Given the description of an element on the screen output the (x, y) to click on. 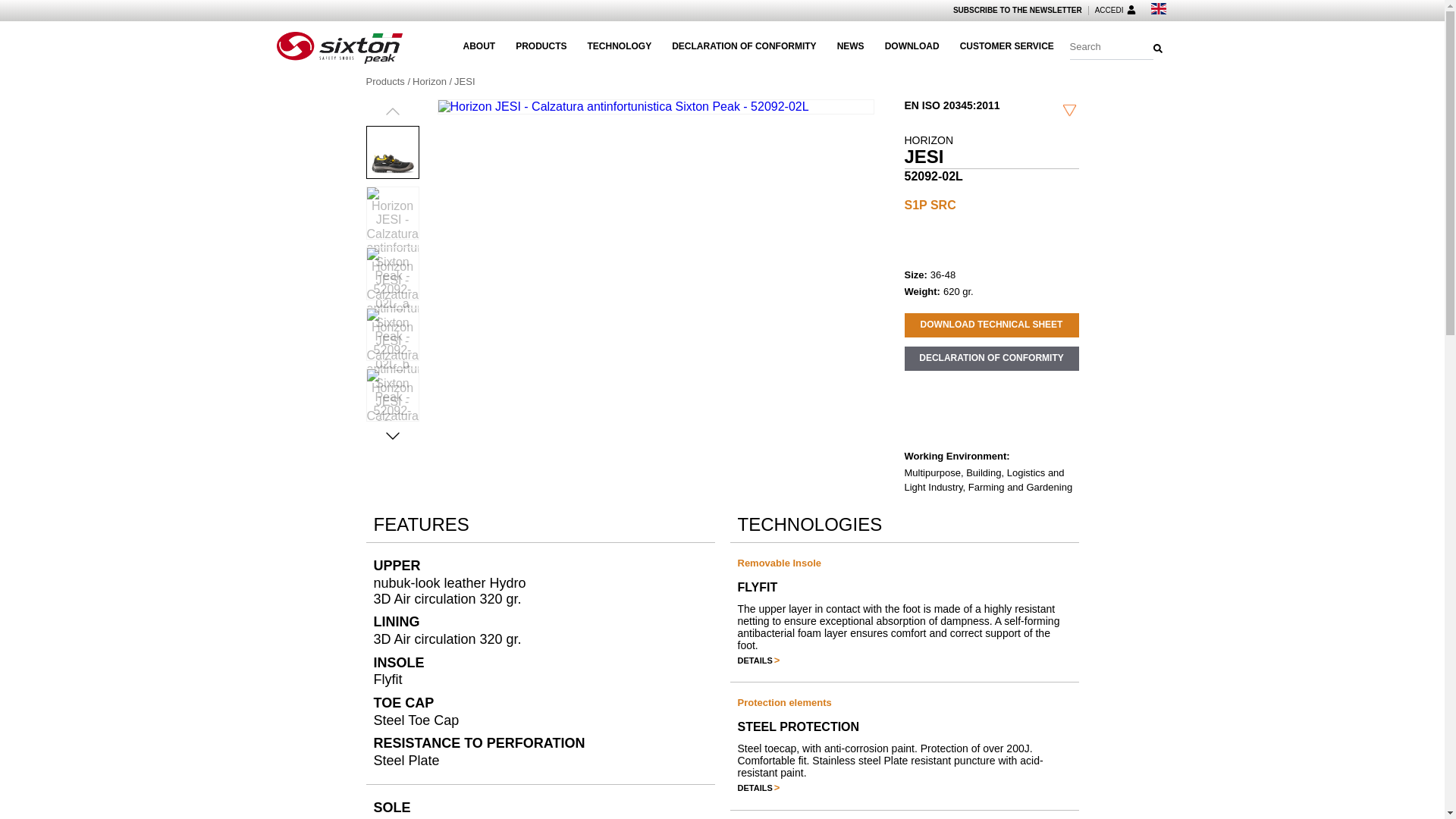
Accedi (1114, 10)
ABOUT (479, 46)
ACCEDI (1114, 10)
Sixton (338, 47)
PRODUCTS (540, 46)
Products (540, 46)
SUBSCRIBE TO THE NEWSLETTER (1017, 10)
About (479, 46)
Subscribe to the newsletter (1017, 10)
